Given the description of an element on the screen output the (x, y) to click on. 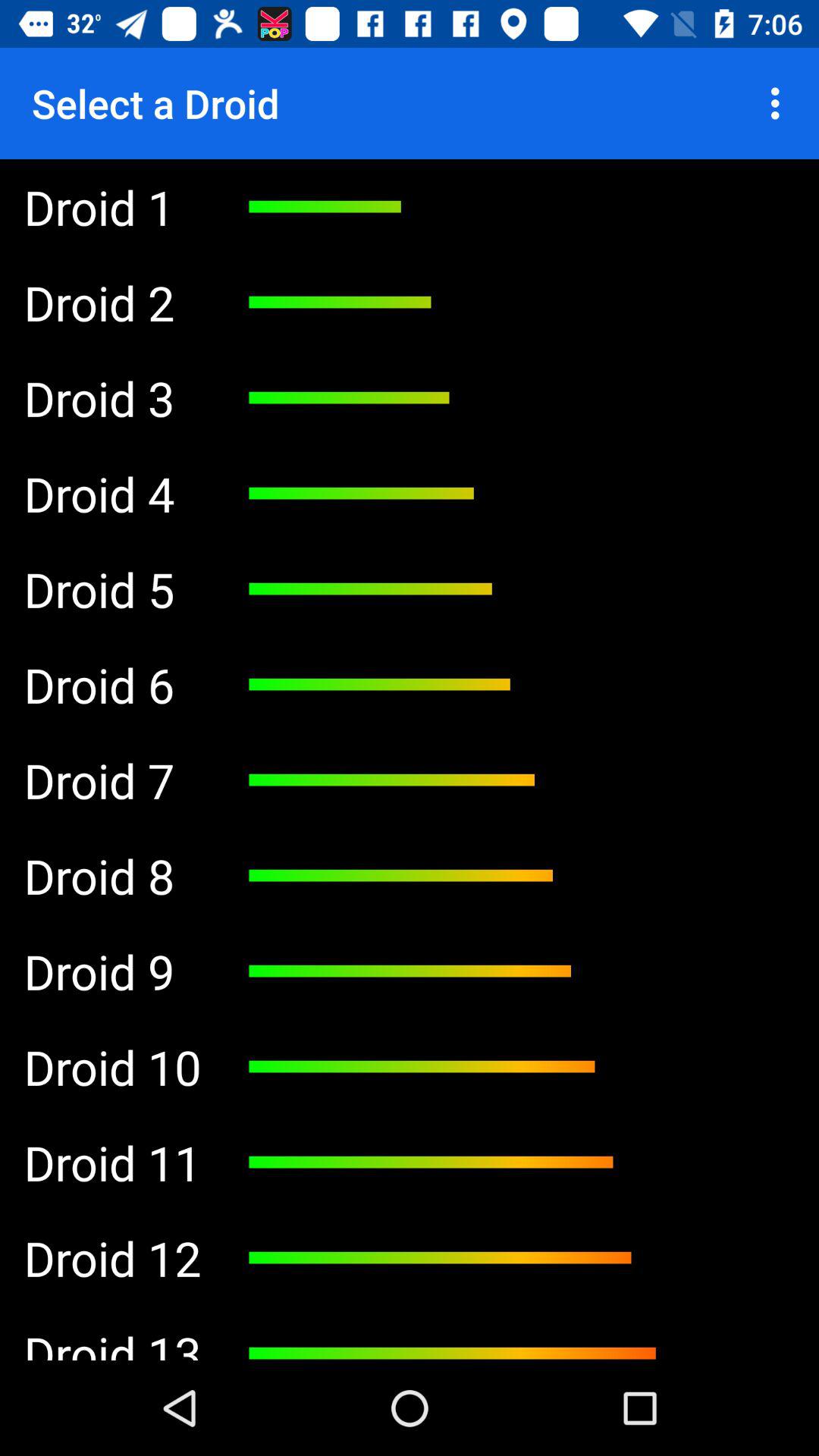
open icon at the top right corner (779, 103)
